Given the description of an element on the screen output the (x, y) to click on. 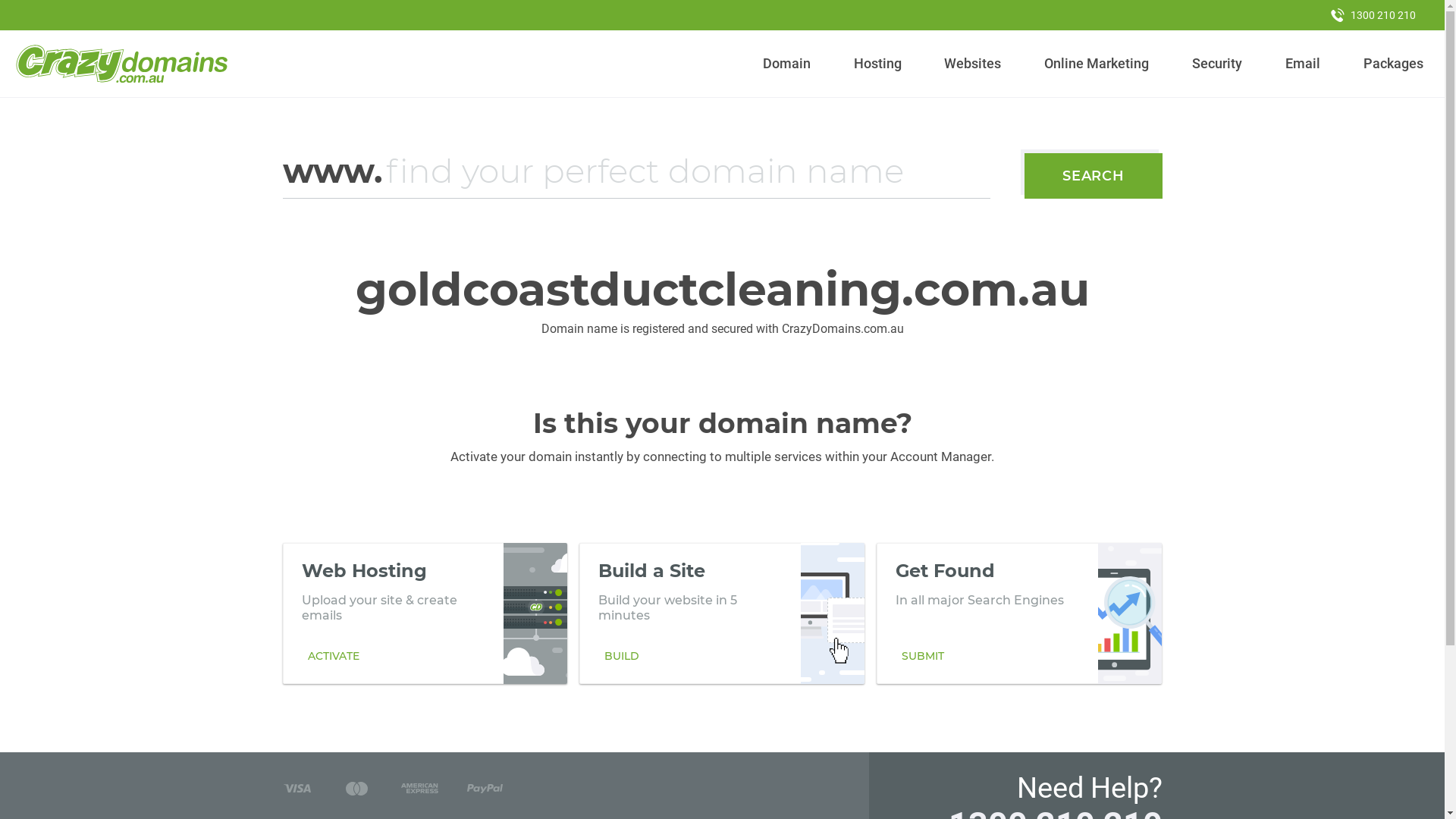
Packages Element type: text (1392, 63)
Build a Site
Build your website in 5 minutes
BUILD Element type: text (721, 613)
Online Marketing Element type: text (1096, 63)
Domain Element type: text (786, 63)
Web Hosting
Upload your site & create emails
ACTIVATE Element type: text (424, 613)
1300 210 210 Element type: text (1373, 15)
Websites Element type: text (972, 63)
Hosting Element type: text (877, 63)
Get Found
In all major Search Engines
SUBMIT Element type: text (1018, 613)
Email Element type: text (1302, 63)
SEARCH Element type: text (1092, 175)
Security Element type: text (1217, 63)
